Given the description of an element on the screen output the (x, y) to click on. 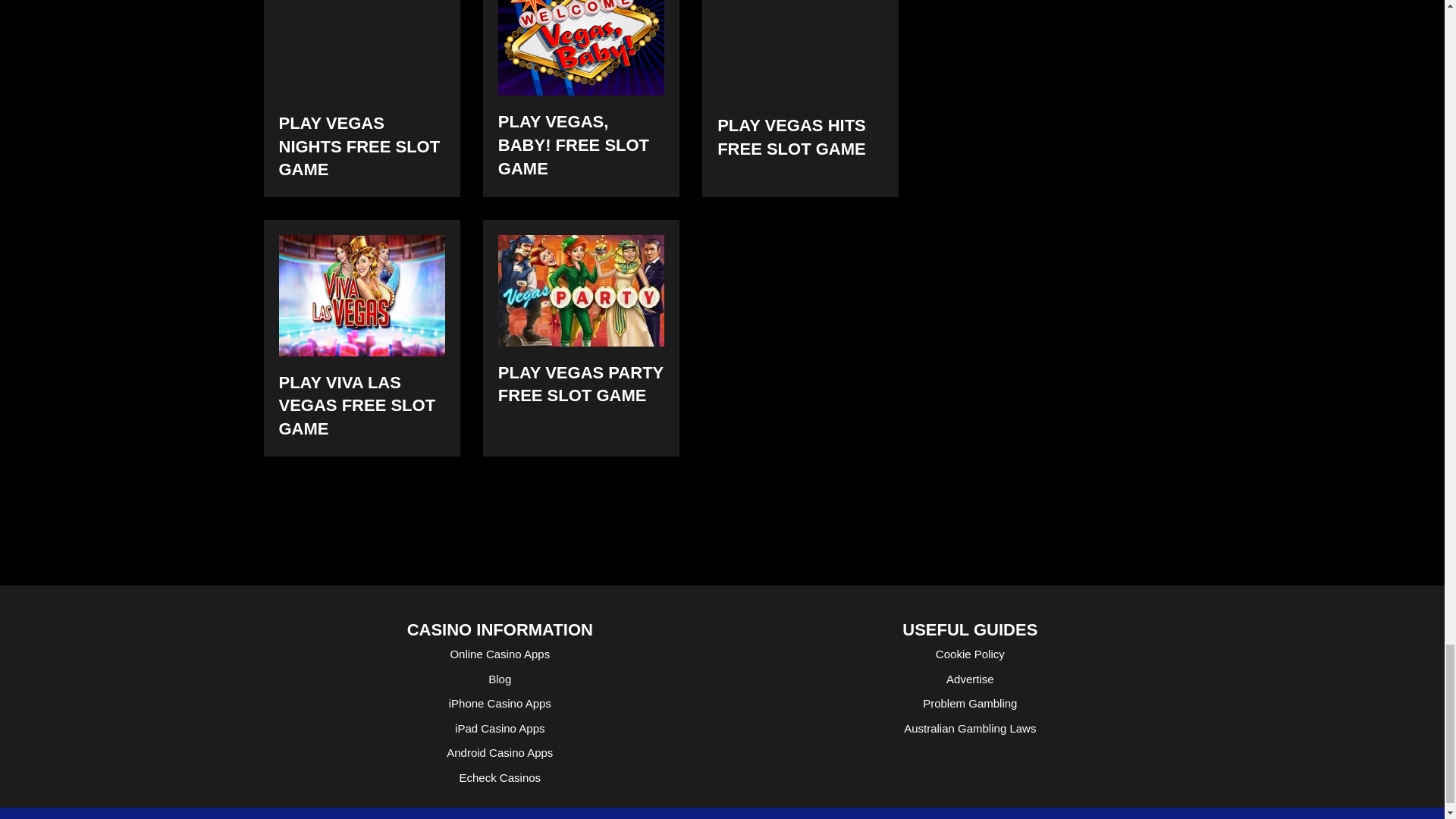
PLAY VIVA LAS VEGAS FREE SLOT GAME (362, 295)
PLAY VEGAS HITS FREE SLOT GAME (800, 49)
PLAY VEGAS NIGHTS FREE SLOT GAME (362, 48)
PLAY VEGAS, BABY! FREE SLOT GAME (580, 47)
